Given the description of an element on the screen output the (x, y) to click on. 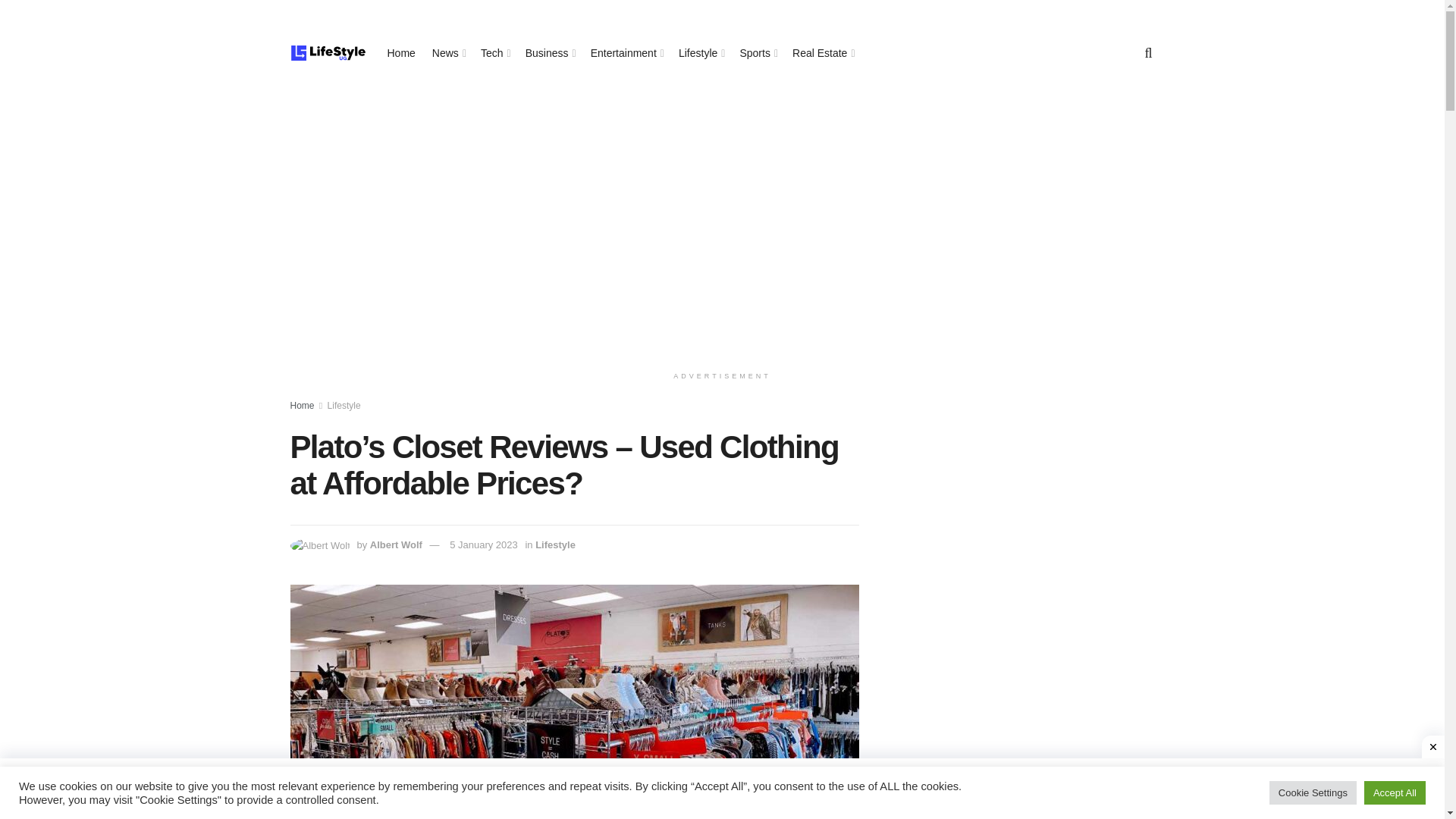
Home (400, 52)
Lifestyle (700, 52)
Real Estate (822, 52)
Tech (494, 52)
Home (301, 405)
Entertainment (626, 52)
Albert Wolf (395, 544)
5 January 2023 (483, 544)
Lifestyle (555, 544)
Lifestyle (344, 405)
Business (549, 52)
News (448, 52)
Sports (757, 52)
Advertisement (1023, 510)
